Given the description of an element on the screen output the (x, y) to click on. 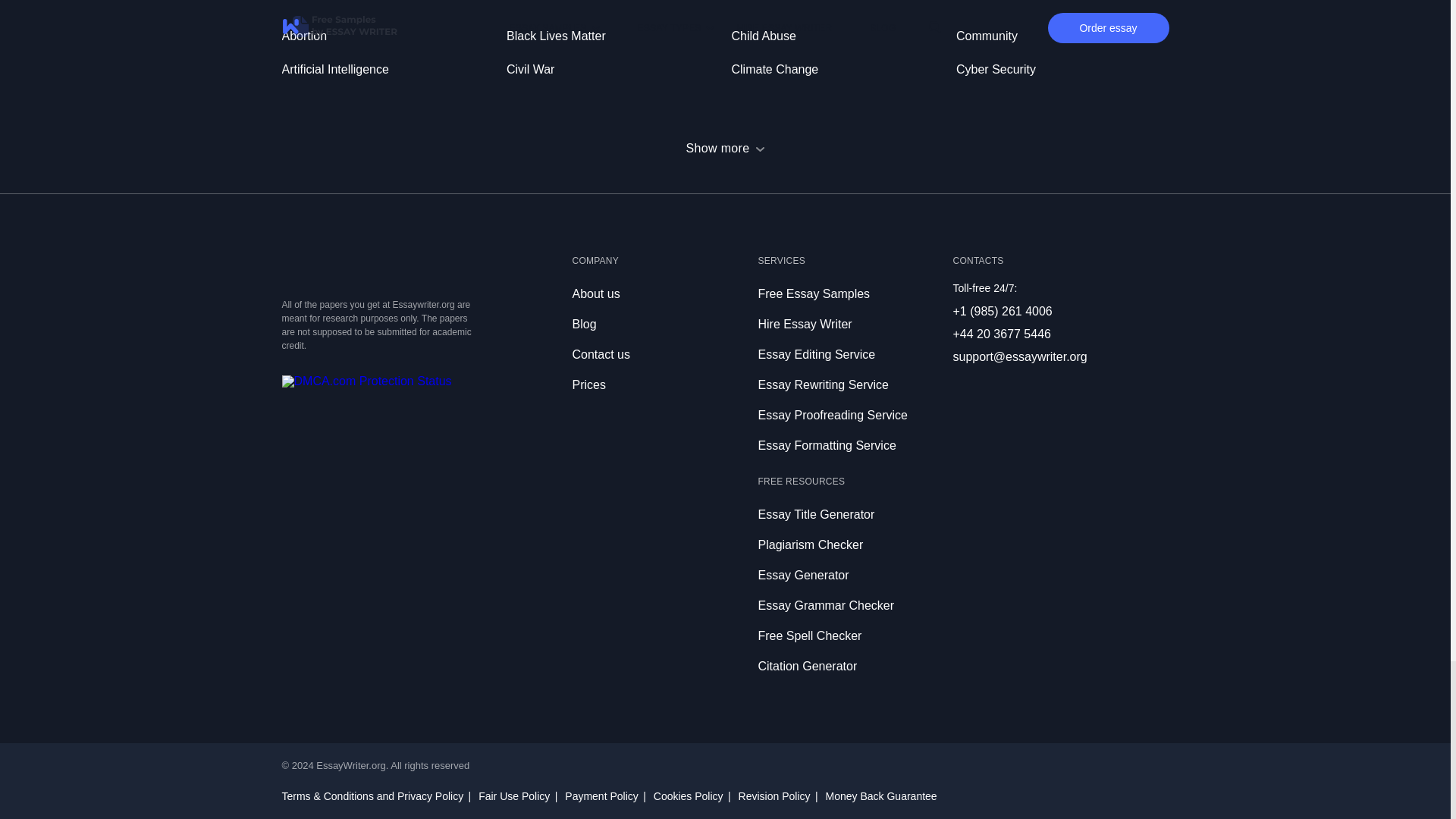
DMCA.com Protection Status (366, 380)
